Given the description of an element on the screen output the (x, y) to click on. 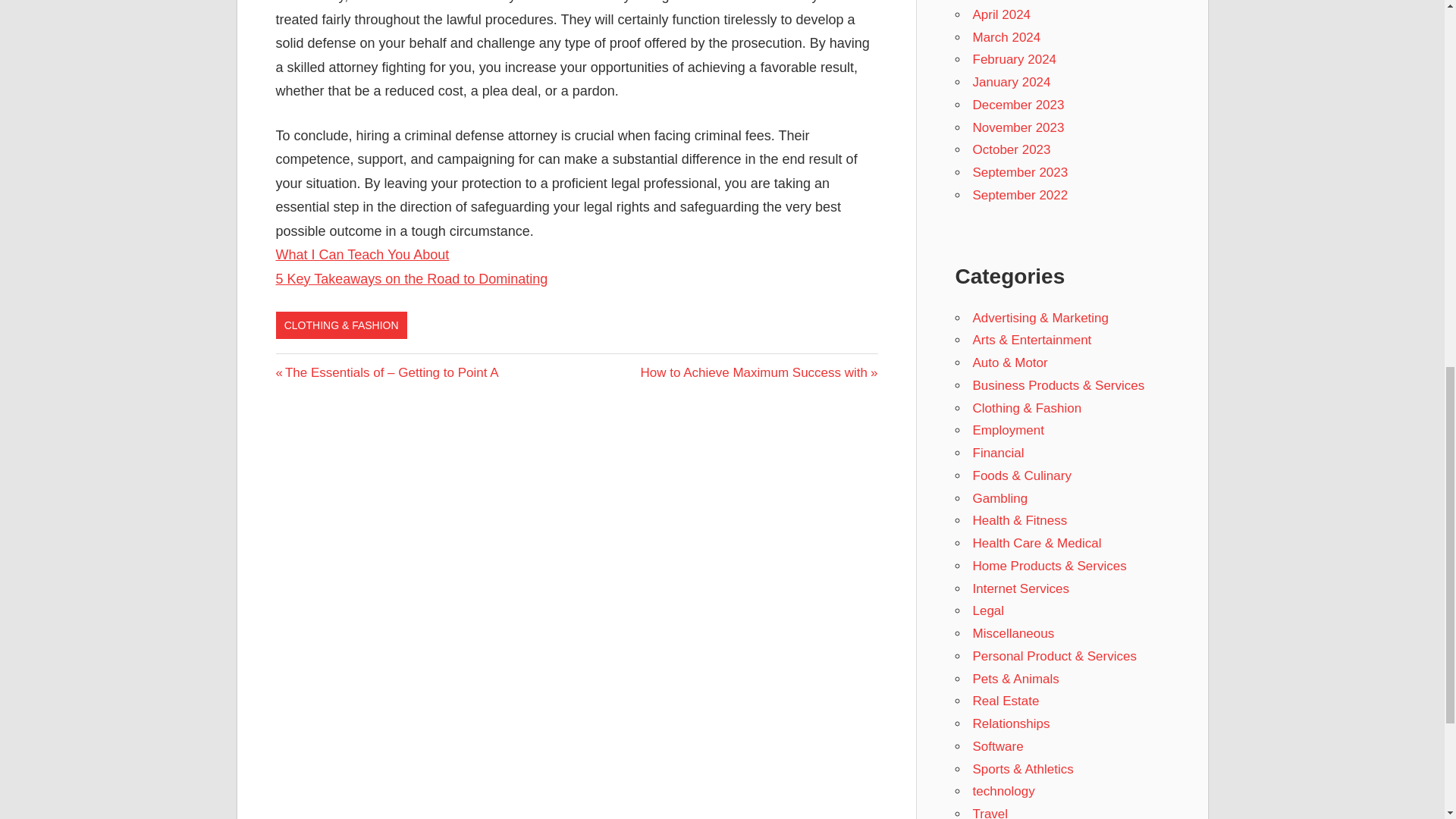
What I Can Teach You About (362, 254)
September 2023 (1019, 172)
Employment (1007, 430)
March 2024 (1006, 37)
September 2022 (758, 372)
February 2024 (1019, 195)
April 2024 (1014, 59)
Internet Services (1001, 14)
December 2023 (1020, 588)
Financial (1018, 104)
October 2023 (997, 452)
Gambling (1010, 149)
5 Key Takeaways on the Road to Dominating (999, 498)
January 2024 (412, 278)
